Given the description of an element on the screen output the (x, y) to click on. 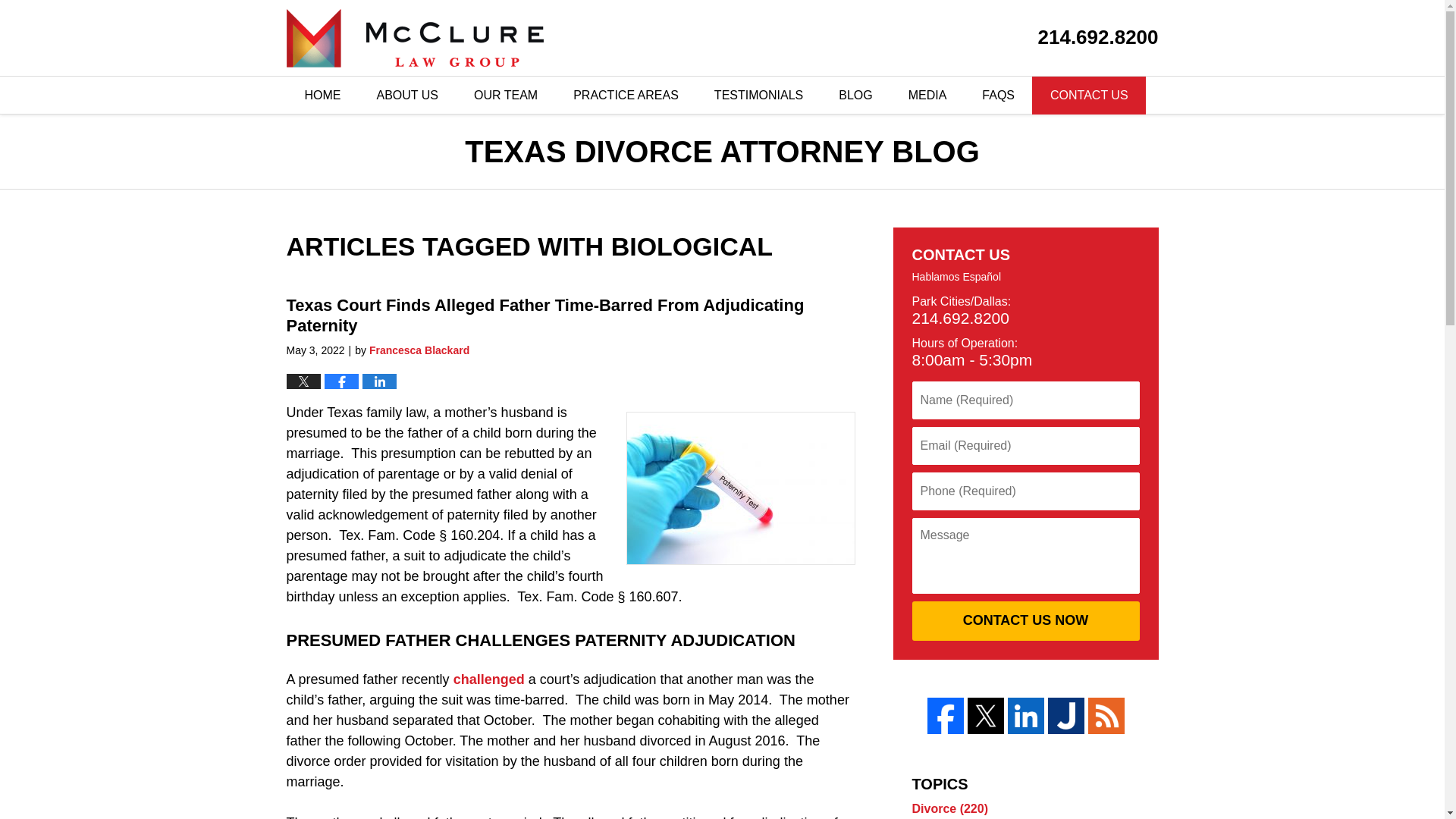
PRACTICE AREAS (624, 95)
HOME (322, 95)
ABOUT US (406, 95)
OUR TEAM (504, 95)
Texas Divorce Attorney Blog (414, 38)
214.692.8200 (1098, 37)
